Given the description of an element on the screen output the (x, y) to click on. 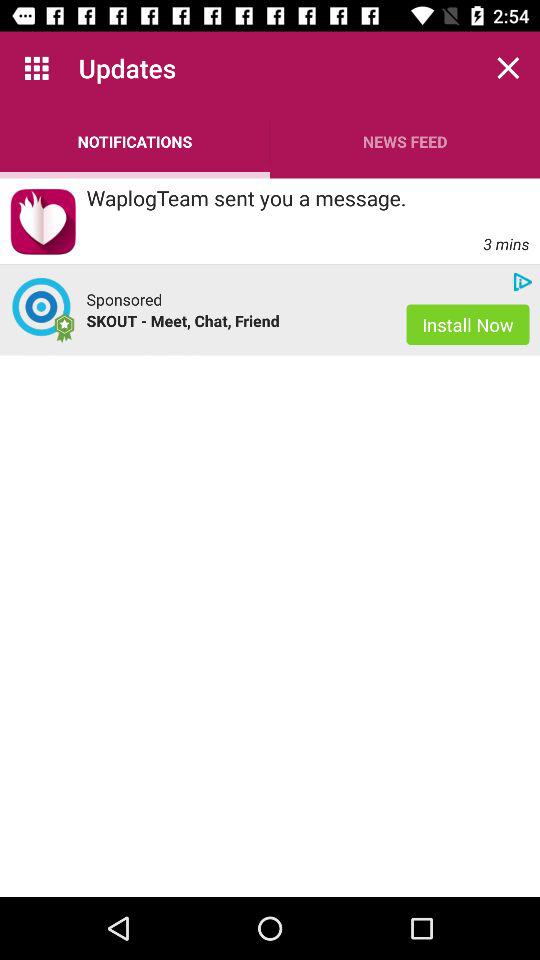
tap app above the notifications app (36, 68)
